Given the description of an element on the screen output the (x, y) to click on. 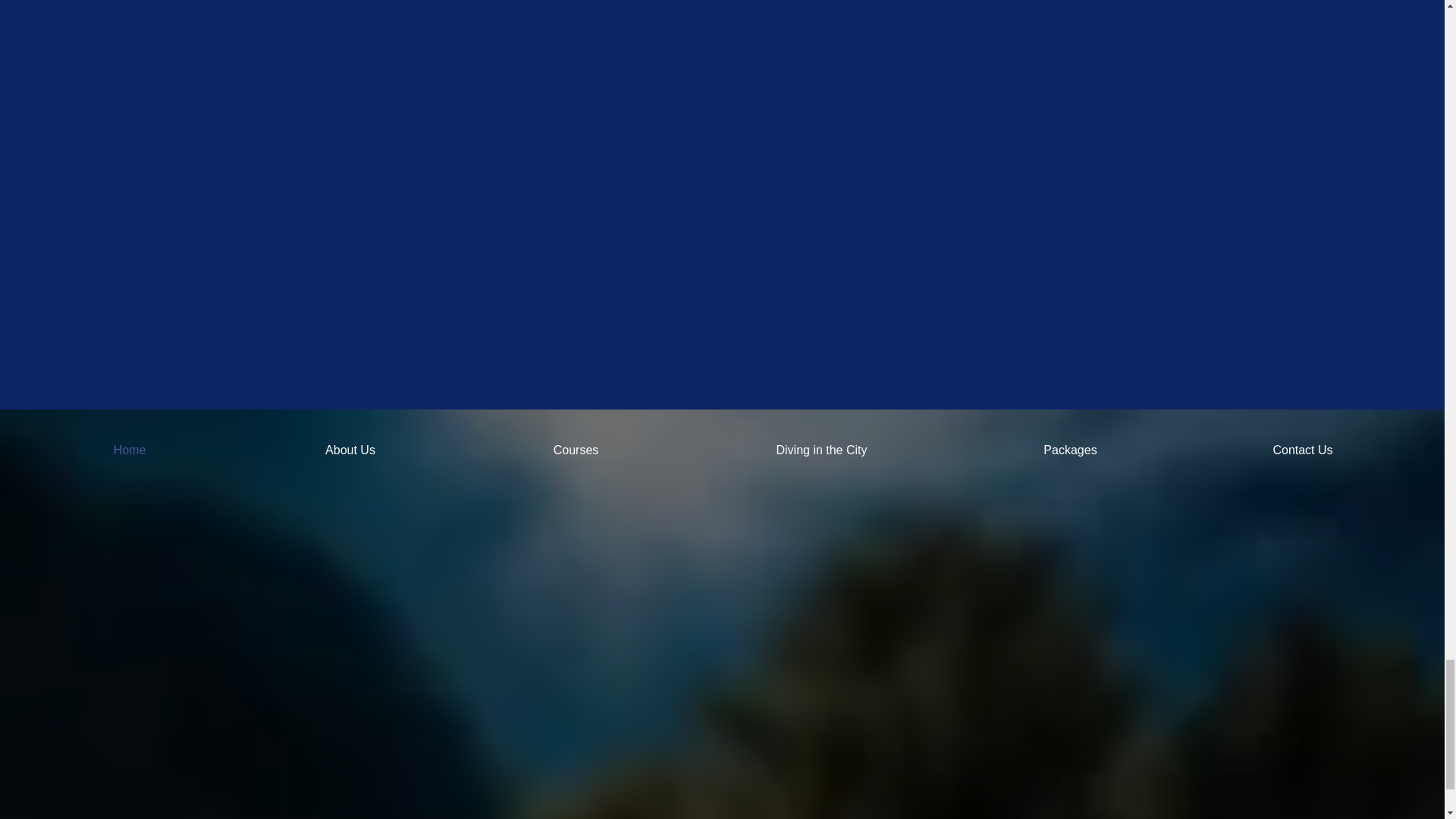
Contact Us (1303, 450)
Courses (575, 450)
About Us (349, 450)
Diving in the City (821, 450)
Home (129, 450)
Packages (1070, 450)
